Given the description of an element on the screen output the (x, y) to click on. 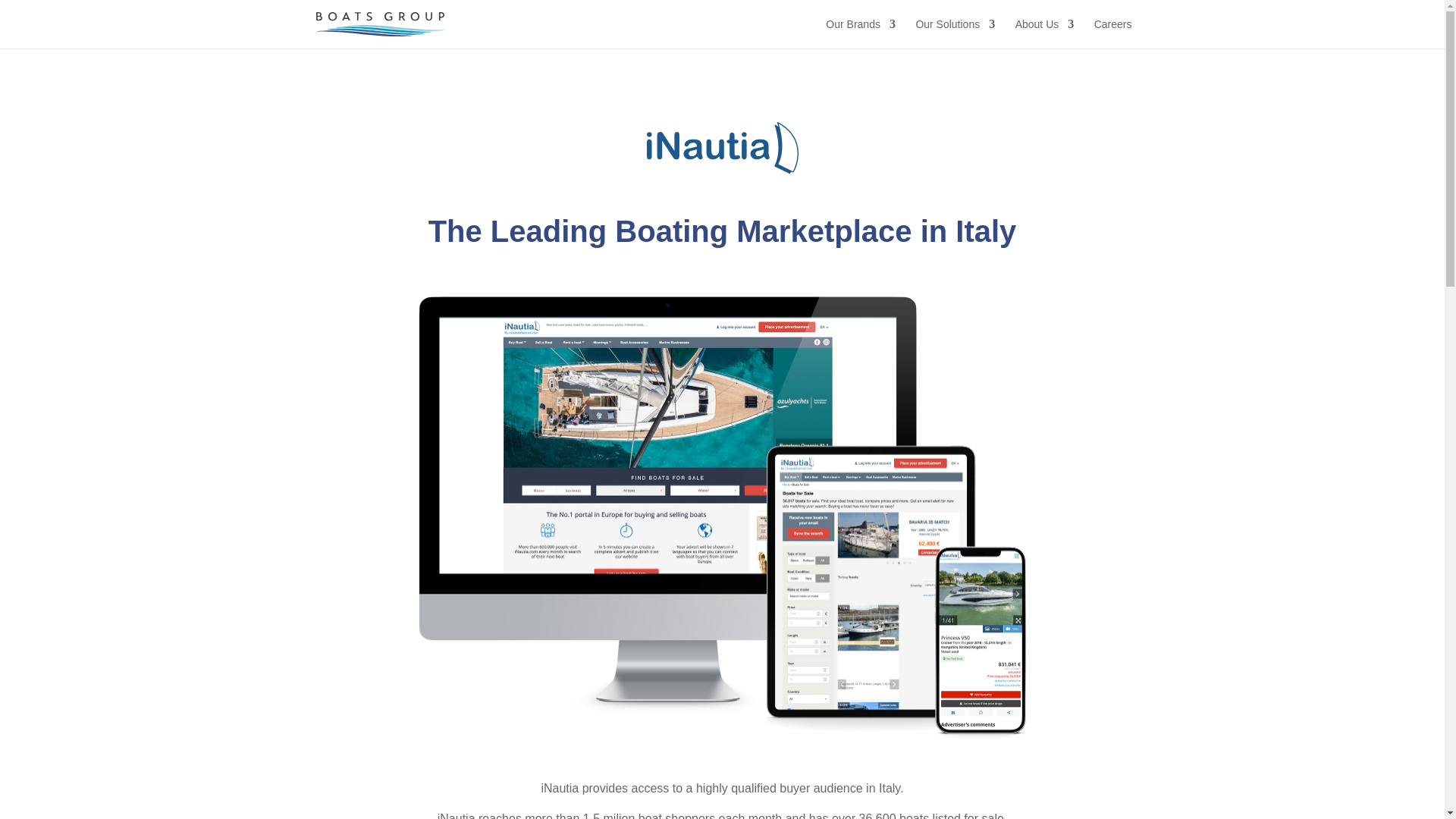
About Us (1044, 33)
iNautia (721, 147)
Careers (1113, 33)
Our Solutions (954, 33)
Our Brands (860, 33)
